Given the description of an element on the screen output the (x, y) to click on. 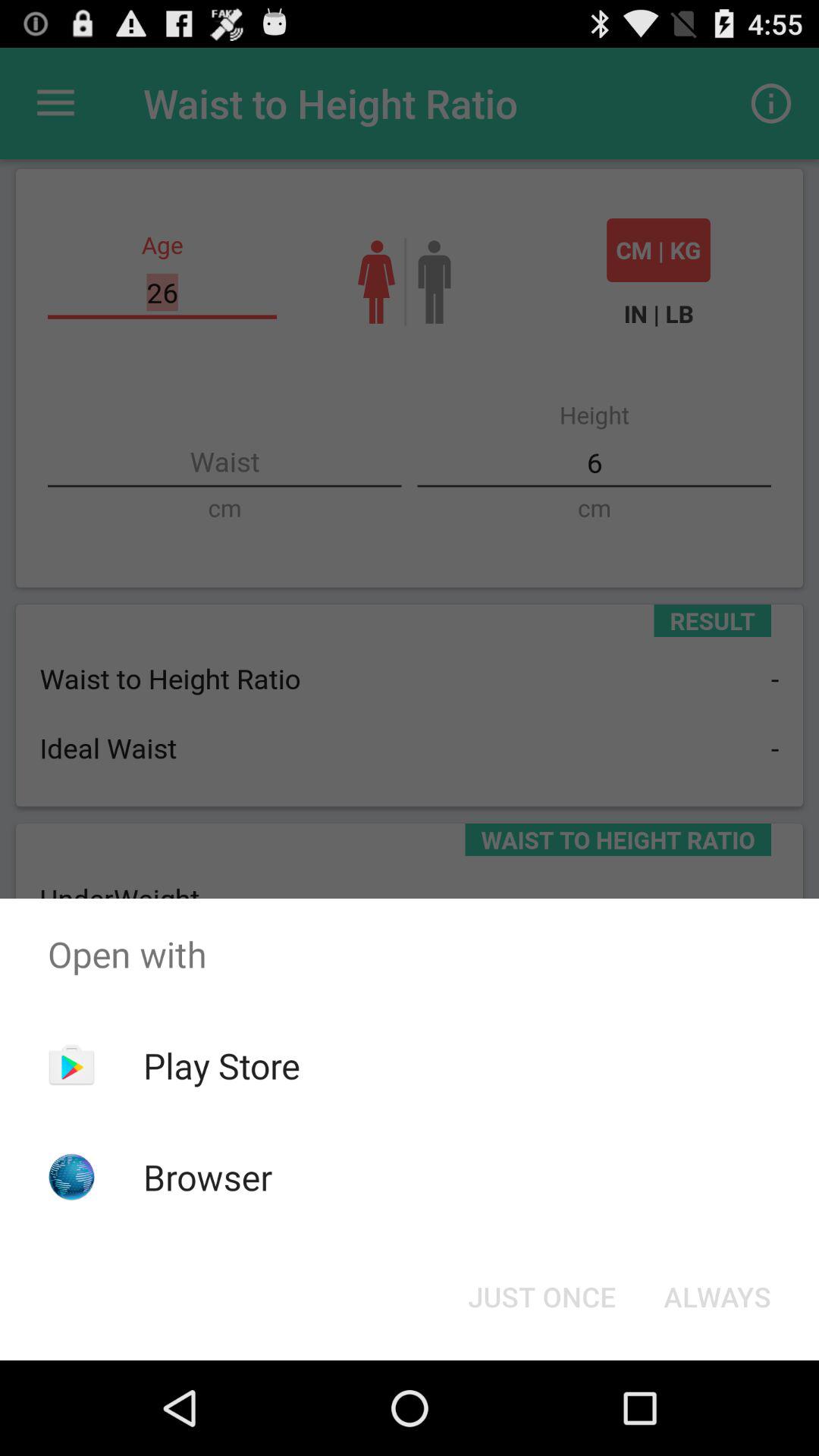
press play store app (221, 1065)
